Given the description of an element on the screen output the (x, y) to click on. 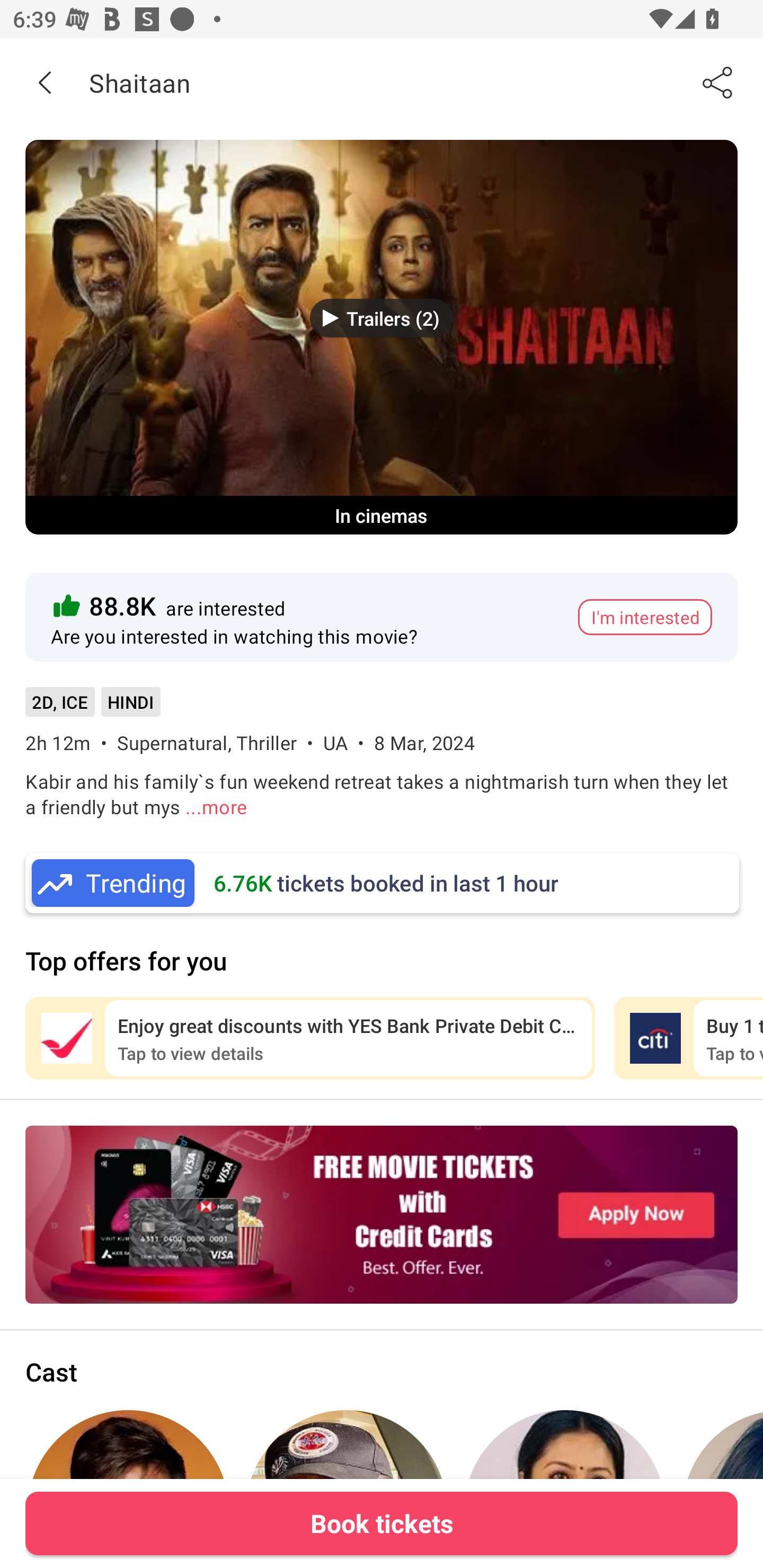
Back (44, 82)
Share (718, 82)
Movie Banner Trailers (2) In cinemas (381, 336)
Trailers (2) (381, 318)
I'm interested (644, 616)
2D, ICE HINDI (92, 707)
Book tickets (381, 1523)
